Given the description of an element on the screen output the (x, y) to click on. 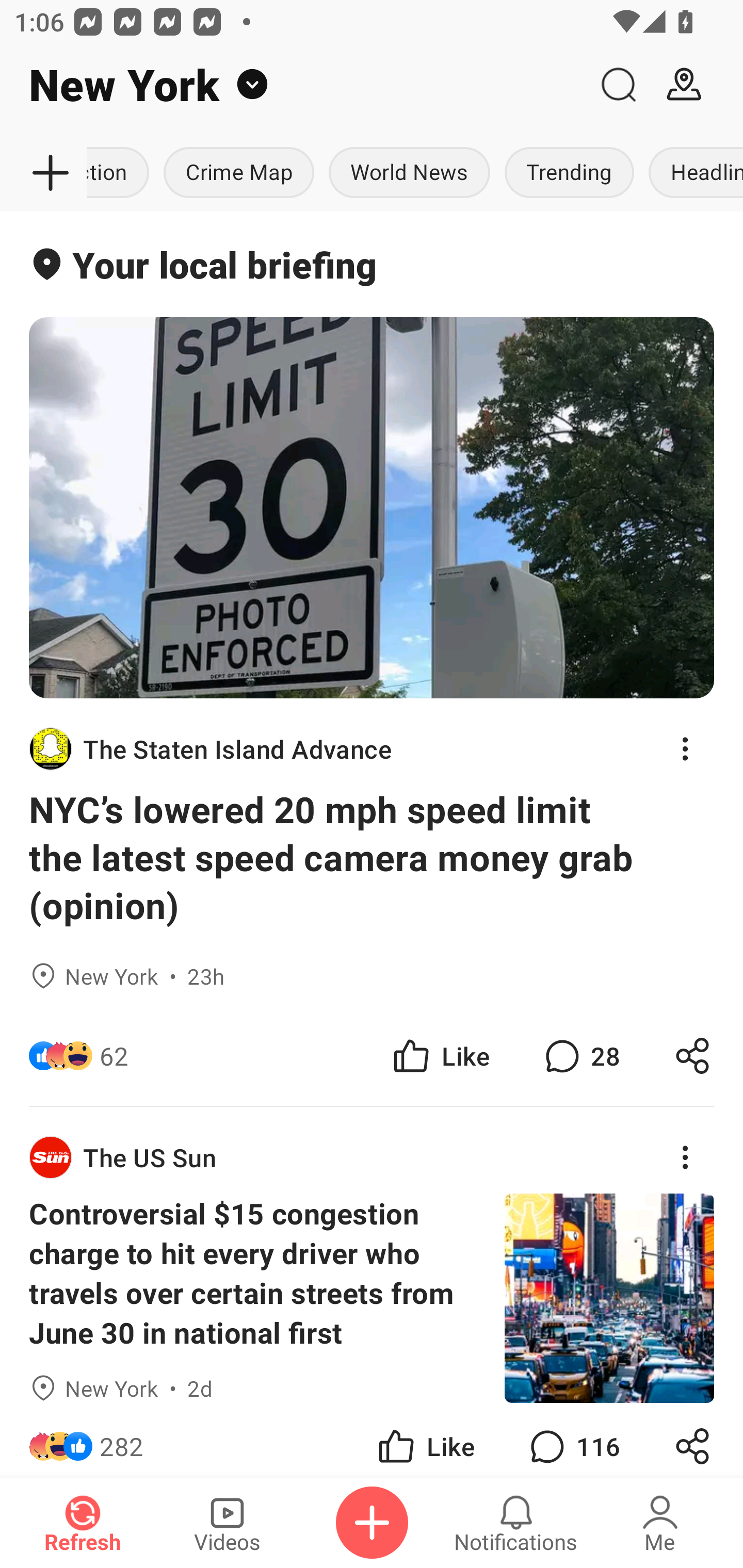
New York (292, 84)
Election (121, 172)
Crime Map (238, 172)
World News (409, 172)
Trending (569, 172)
Headlines (692, 172)
62 (113, 1055)
Like (439, 1055)
28 (579, 1055)
282 (121, 1440)
Like (425, 1440)
116 (572, 1440)
Videos (227, 1522)
Notifications (516, 1522)
Me (659, 1522)
